Given the description of an element on the screen output the (x, y) to click on. 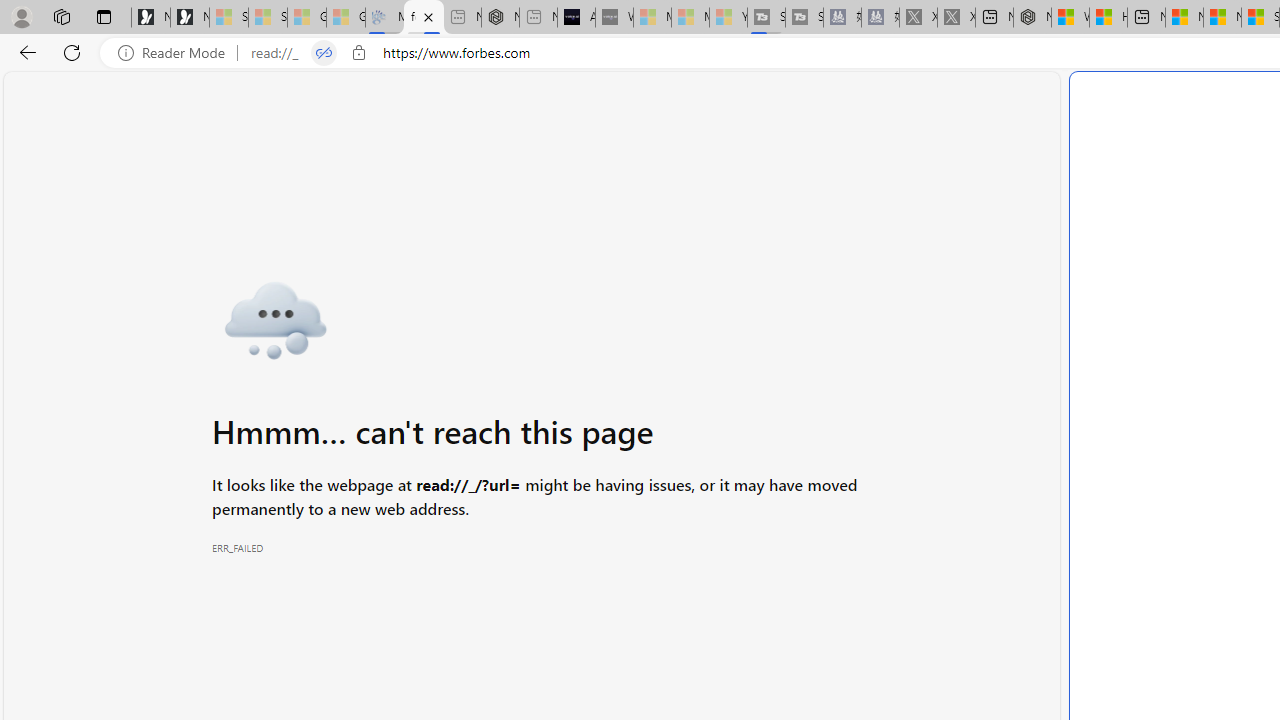
Microsoft Start - Sleeping (690, 17)
